Given the description of an element on the screen output the (x, y) to click on. 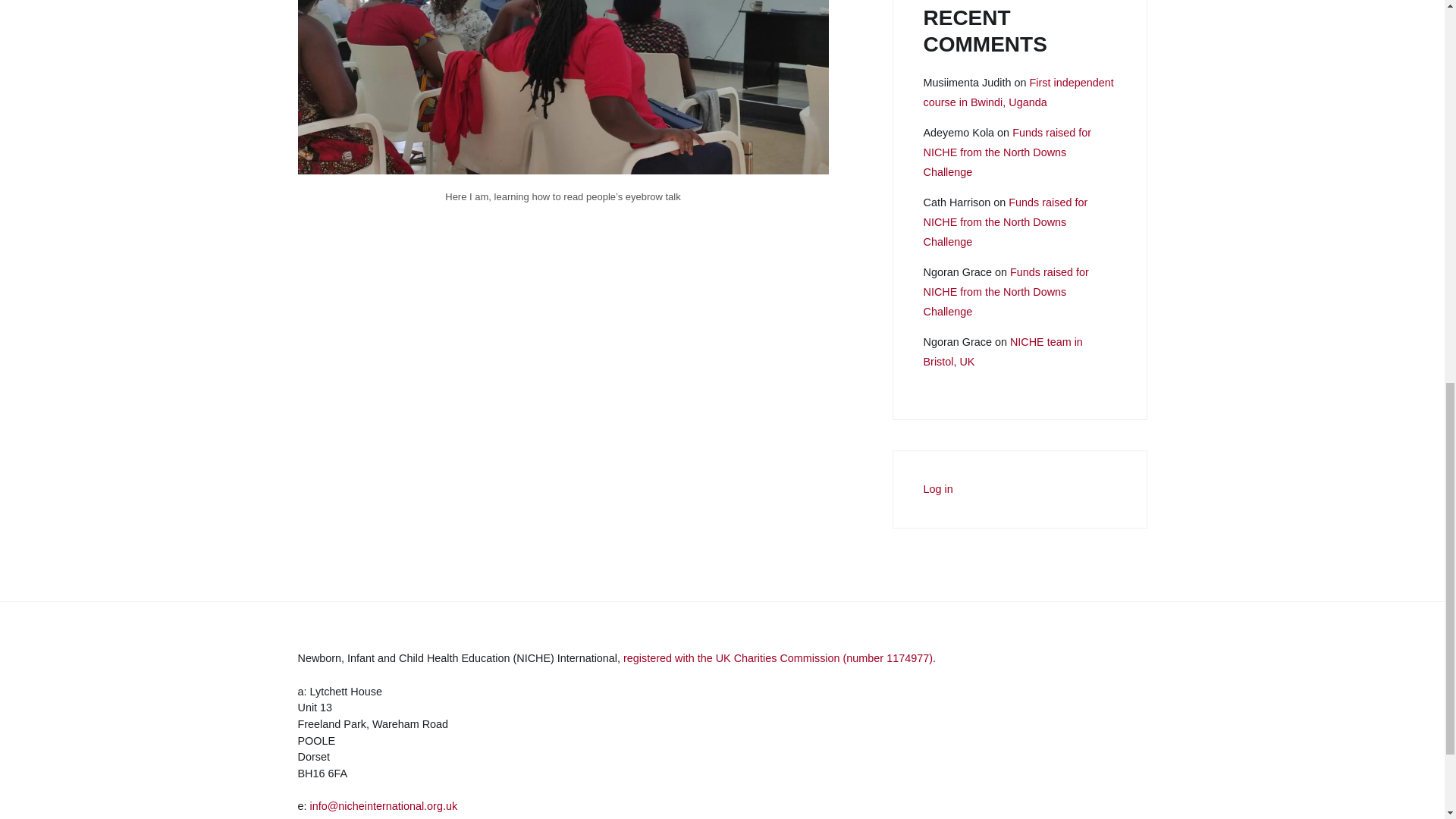
Funds raised for NICHE from the North Downs Challenge (1005, 222)
NICHE team in Bristol, UK (1003, 352)
Funds raised for NICHE from the North Downs Challenge (1006, 292)
Log in (938, 489)
First independent course in Bwindi, Uganda (1018, 92)
Funds raised for NICHE from the North Downs Challenge (1007, 152)
